Given the description of an element on the screen output the (x, y) to click on. 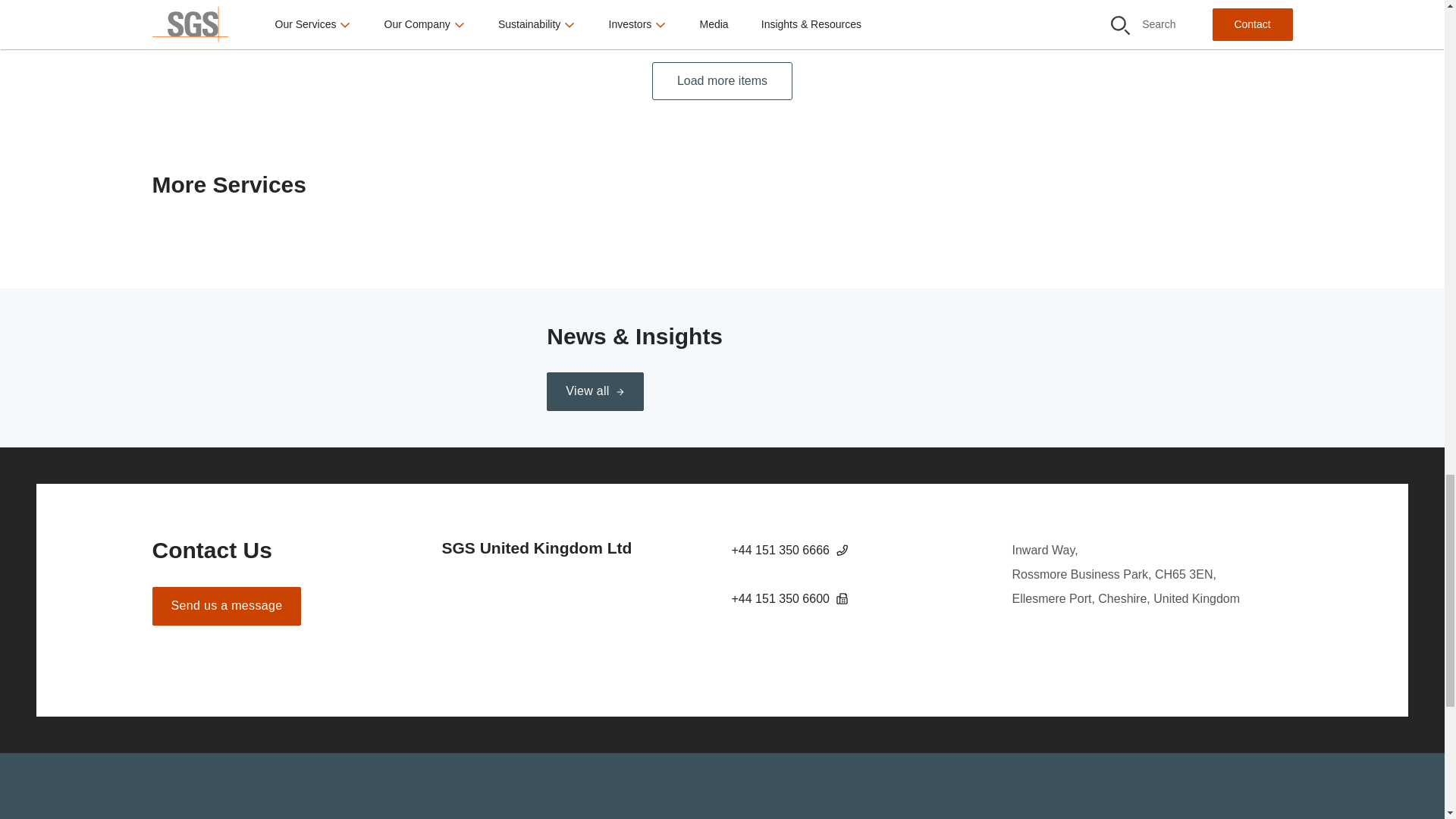
Send us a message (226, 606)
View all (595, 391)
Load more items (722, 81)
